Given the description of an element on the screen output the (x, y) to click on. 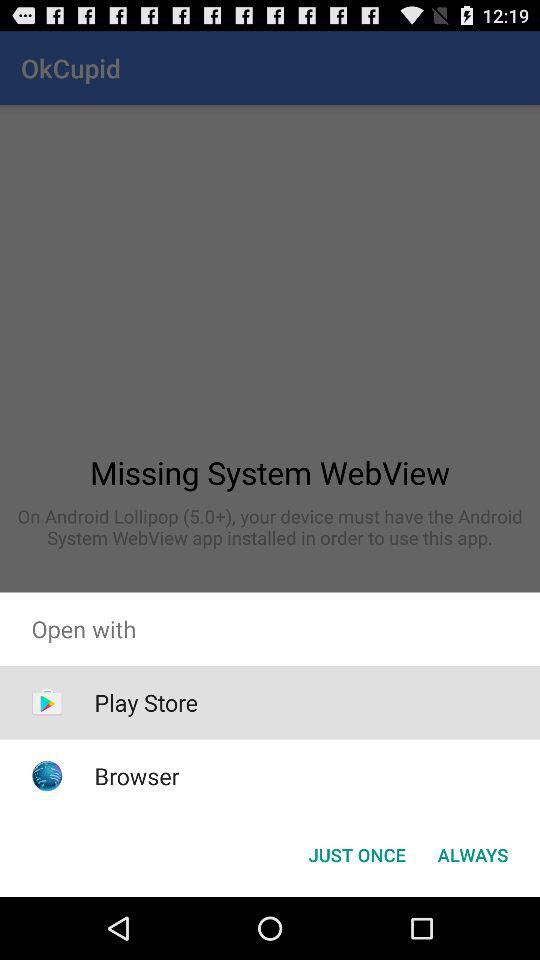
choose the app below the open with app (356, 854)
